Given the description of an element on the screen output the (x, y) to click on. 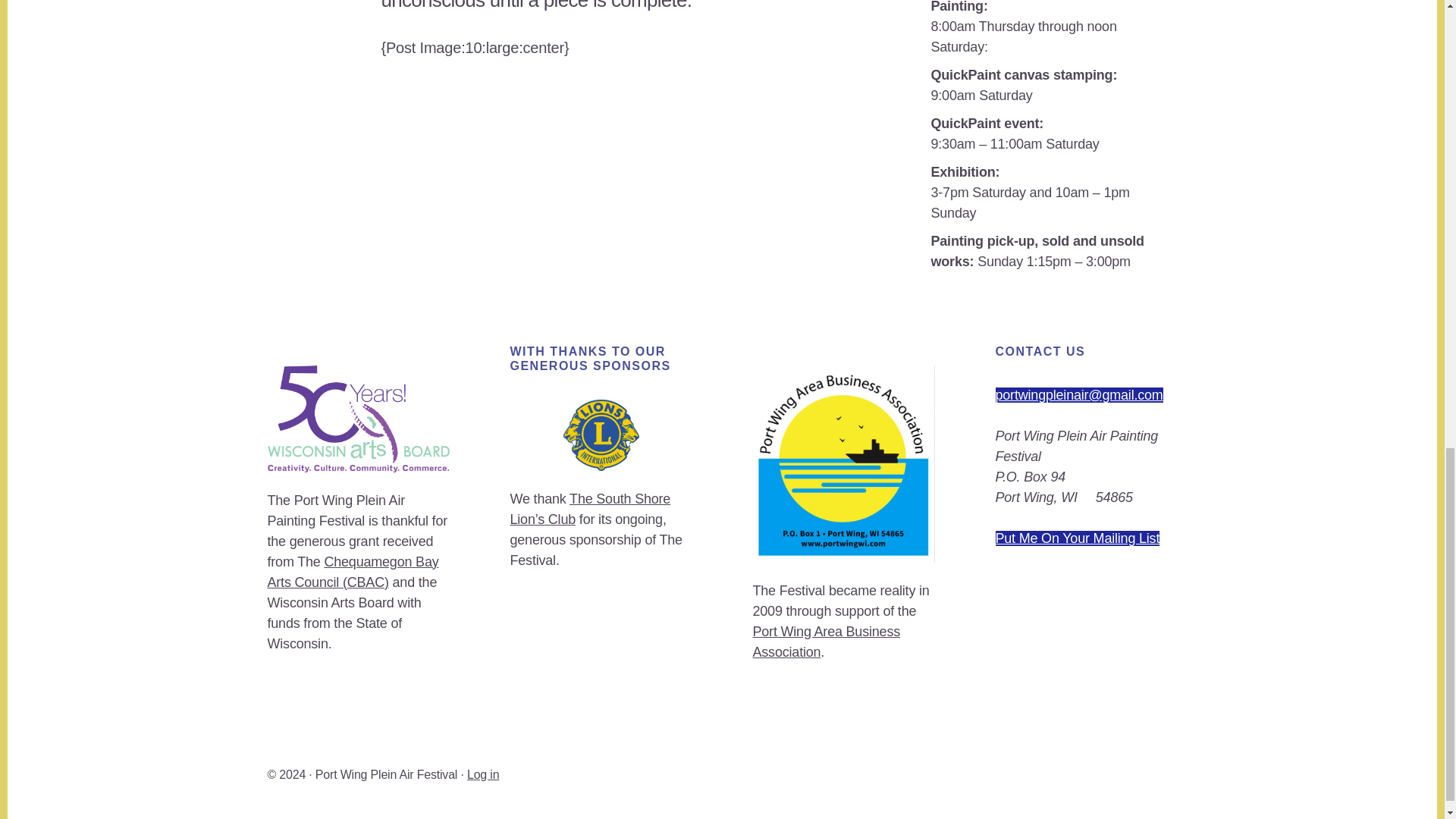
Put Me On Your Mailing List (1076, 538)
Port Wing Area Business Association (825, 642)
Log in (483, 774)
